Given the description of an element on the screen output the (x, y) to click on. 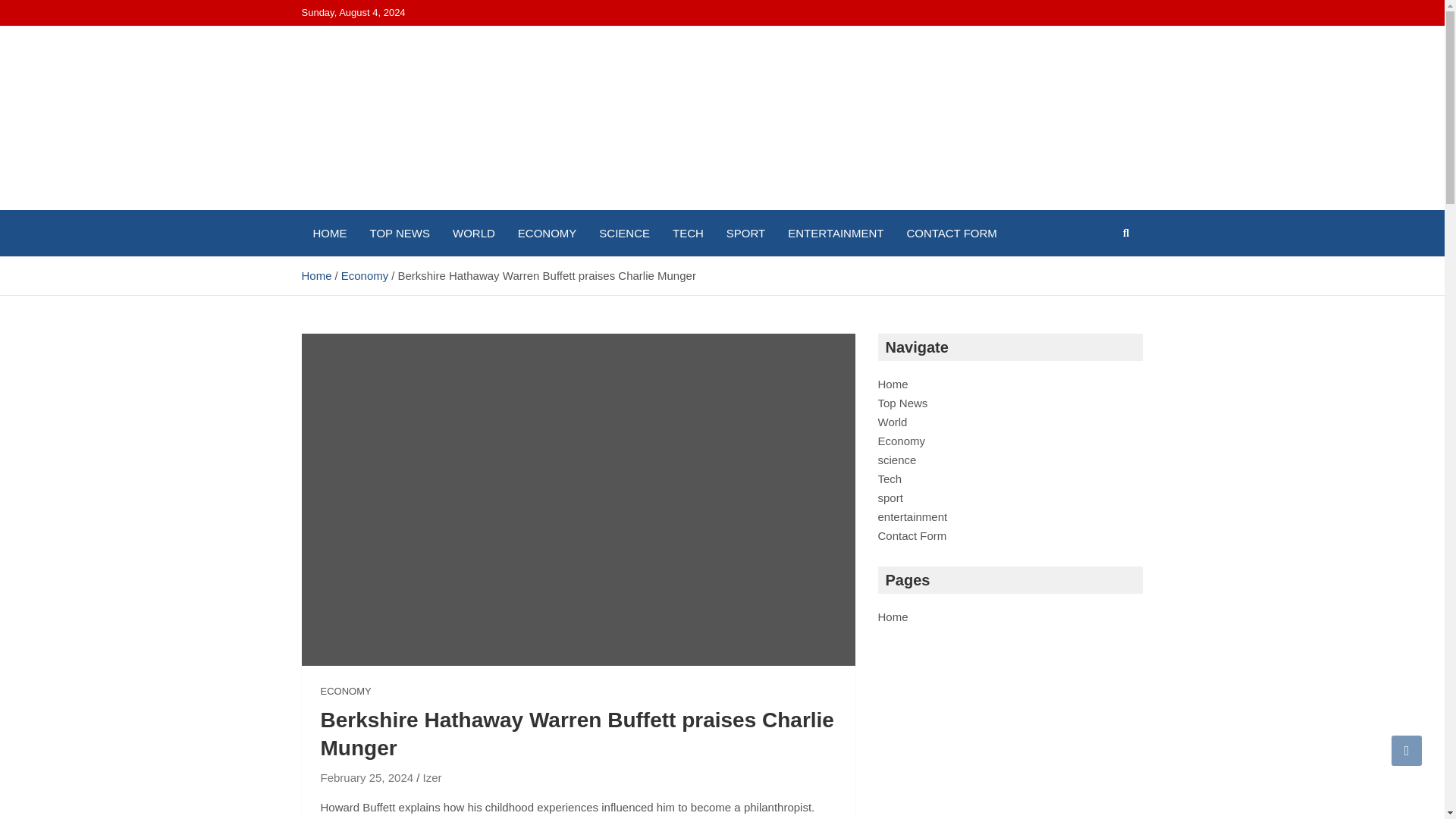
ECONOMY (547, 232)
Tech (889, 478)
sport (889, 497)
Top News (902, 402)
Berkshire Hathaway Warren Buffett praises Charlie Munger (366, 777)
WORLD (473, 232)
Economy (901, 440)
Home (316, 275)
World (892, 421)
Home (892, 616)
Home (892, 383)
February 25, 2024 (366, 777)
SCIENCE (624, 232)
entertainment (912, 516)
TOP NEWS (399, 232)
